Given the description of an element on the screen output the (x, y) to click on. 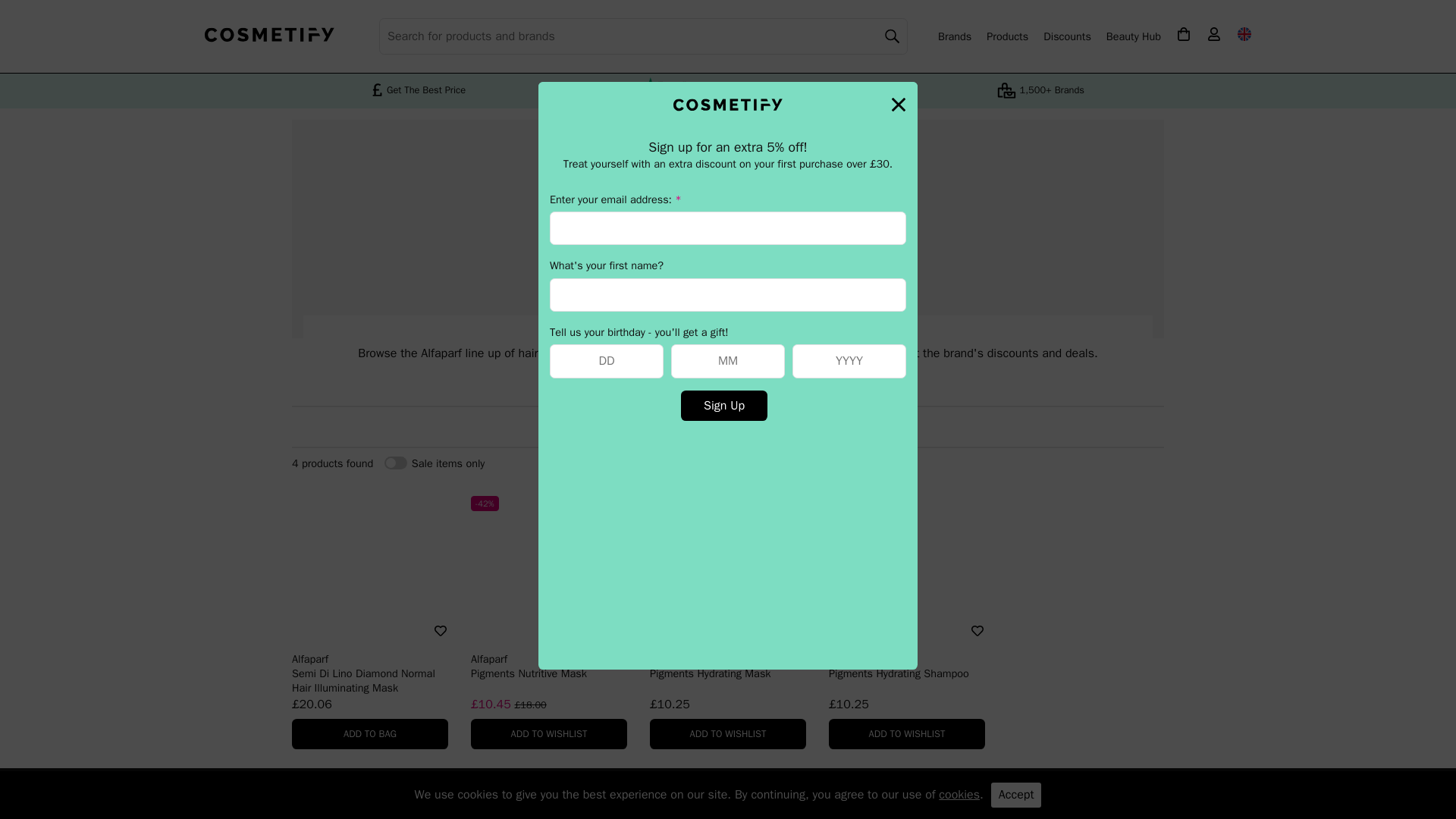
cookies (959, 794)
Products (1007, 36)
Discounts (1066, 36)
Accept (1016, 794)
Brands (954, 36)
Beauty Hub (1133, 36)
